Given the description of an element on the screen output the (x, y) to click on. 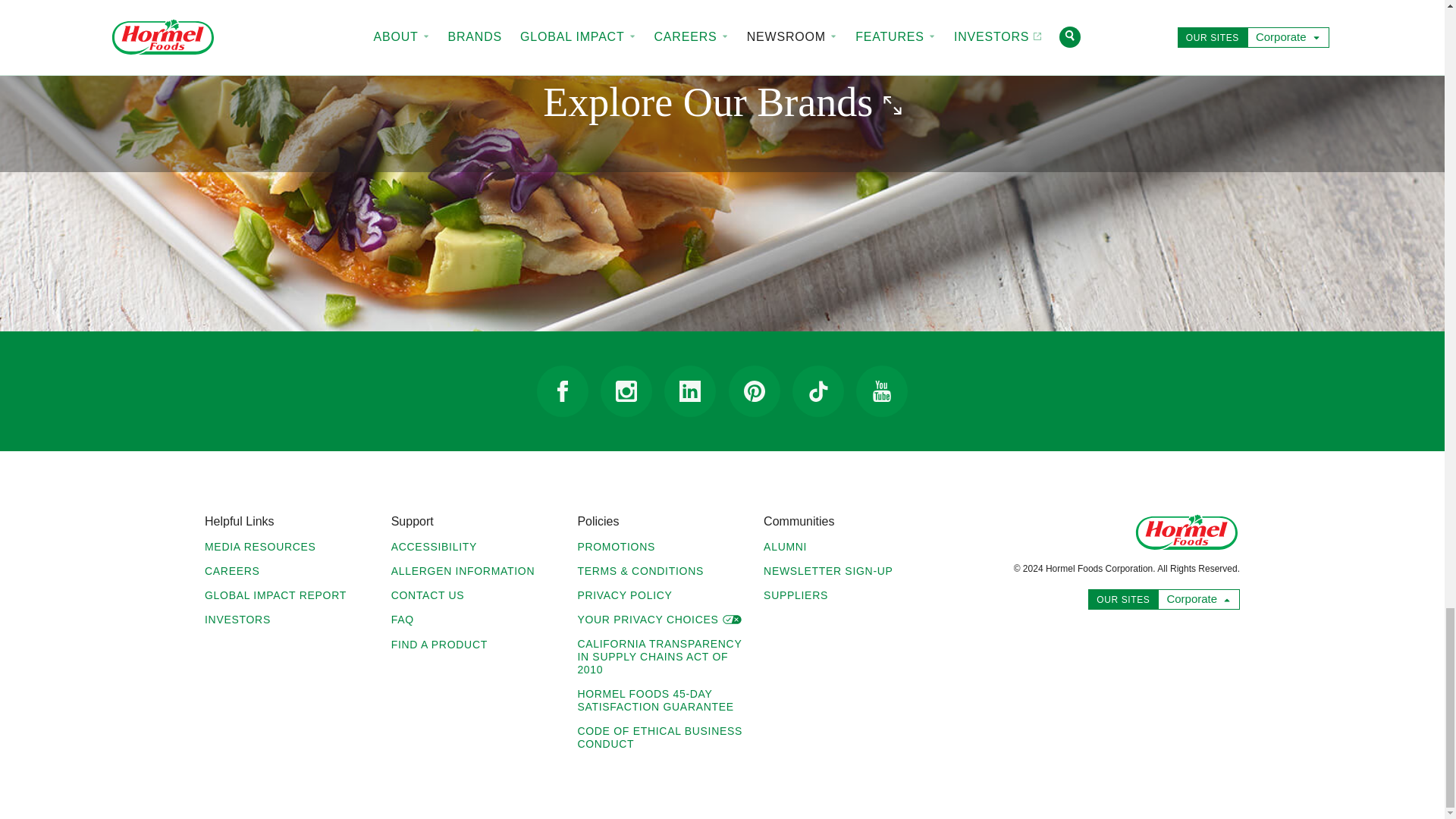
Linkedin (689, 390)
Instagram (625, 390)
Facebook (562, 390)
Pinterest (754, 390)
Youtube (881, 390)
Tiktok (818, 390)
